Given the description of an element on the screen output the (x, y) to click on. 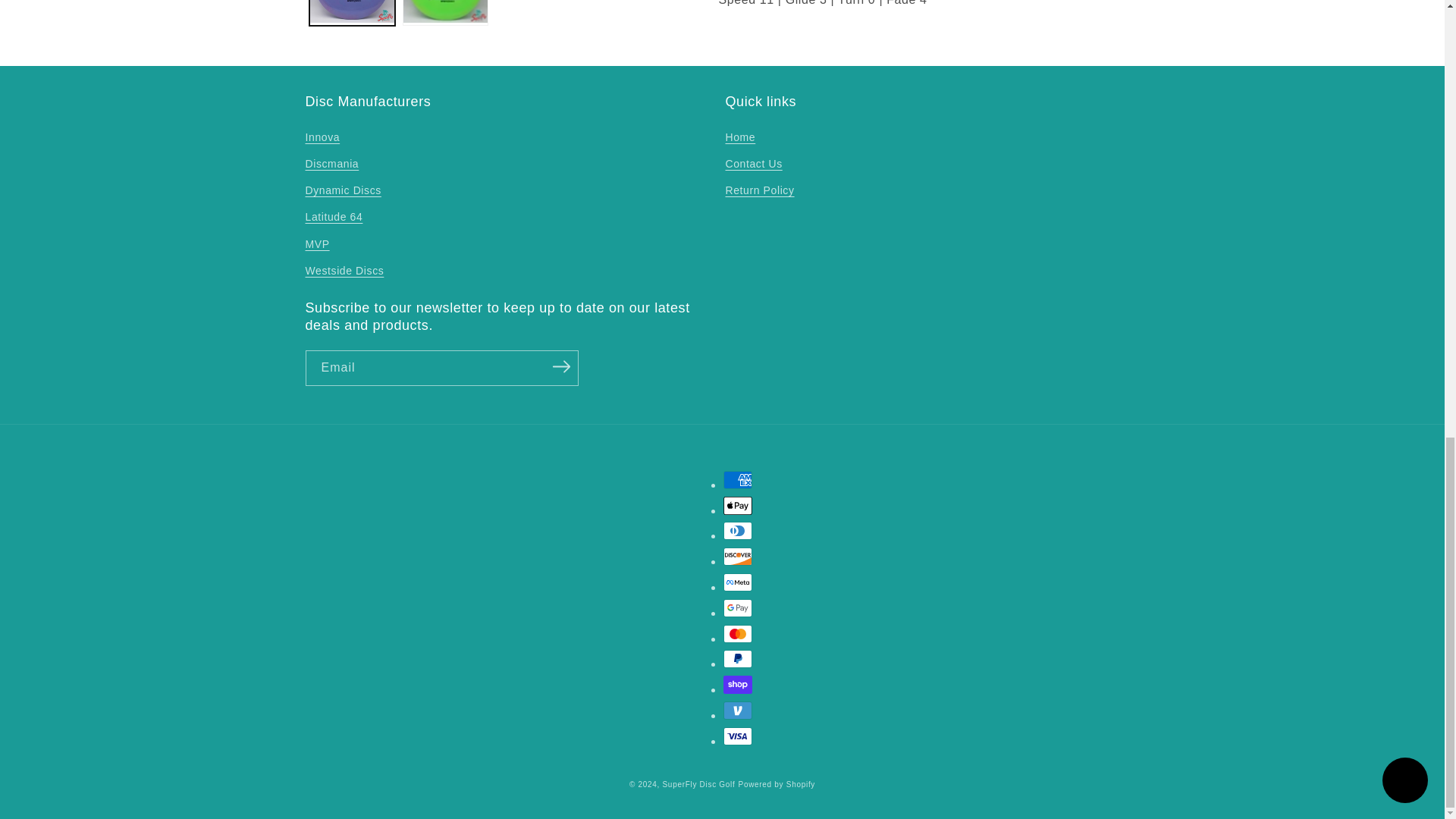
American Express (737, 479)
Meta Pay (737, 582)
Visa (737, 736)
Mastercard (737, 633)
Venmo (737, 710)
Diners Club (737, 530)
Apple Pay (737, 505)
Google Pay (737, 607)
Shop Pay (737, 684)
Discover (737, 556)
